Given the description of an element on the screen output the (x, y) to click on. 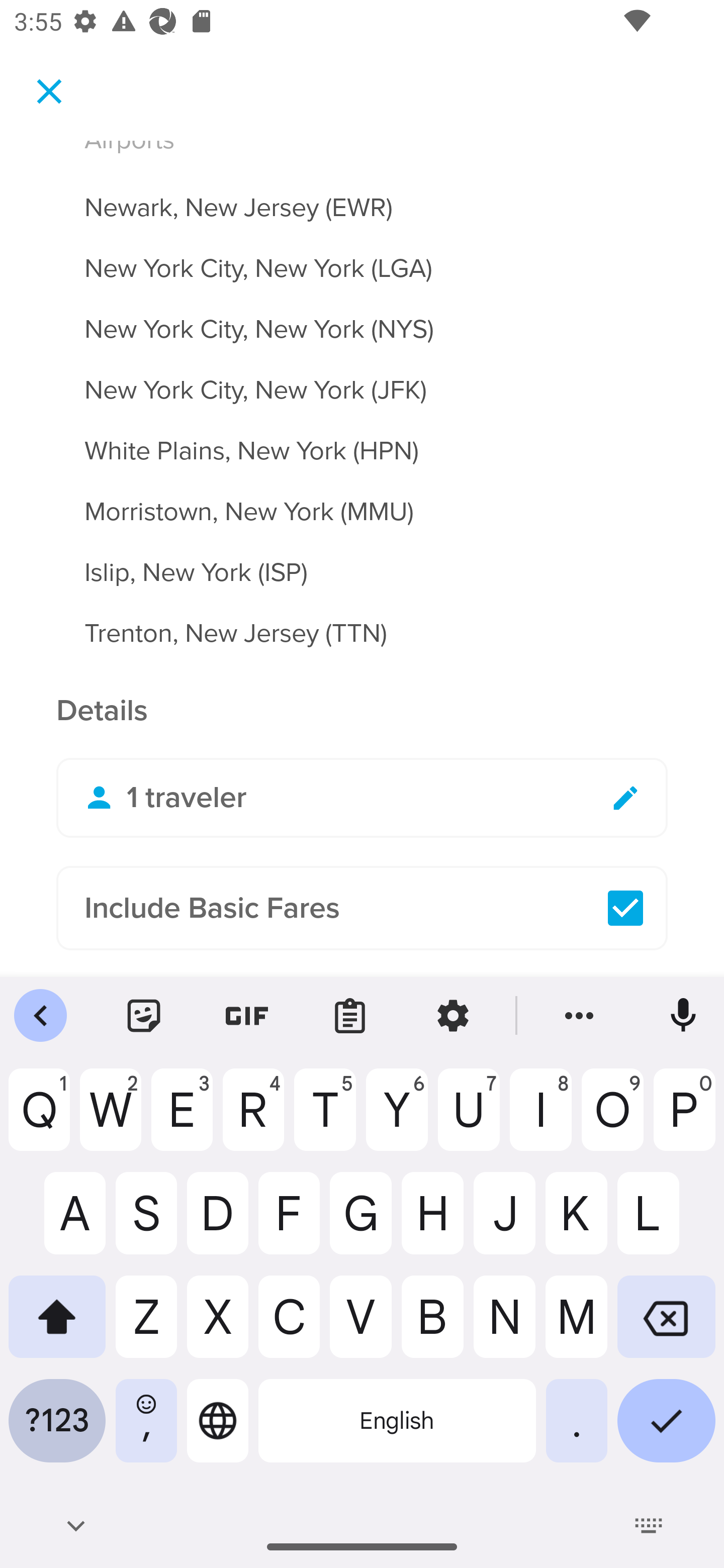
Cancel (49, 90)
Newark, New Jersey (EWR) (361, 196)
New York City, New York (LGA) (361, 256)
New York City, New York (NYS) (361, 317)
New York City, New York (JFK) (361, 378)
White Plains, New York (HPN) (361, 439)
Morristown, New York (MMU) (361, 499)
Islip, New York (ISP) (361, 560)
Trenton, New Jersey (TTN) (361, 633)
1 traveler Edit Travelers (361, 797)
Include Basic Fares (361, 907)
